Given the description of an element on the screen output the (x, y) to click on. 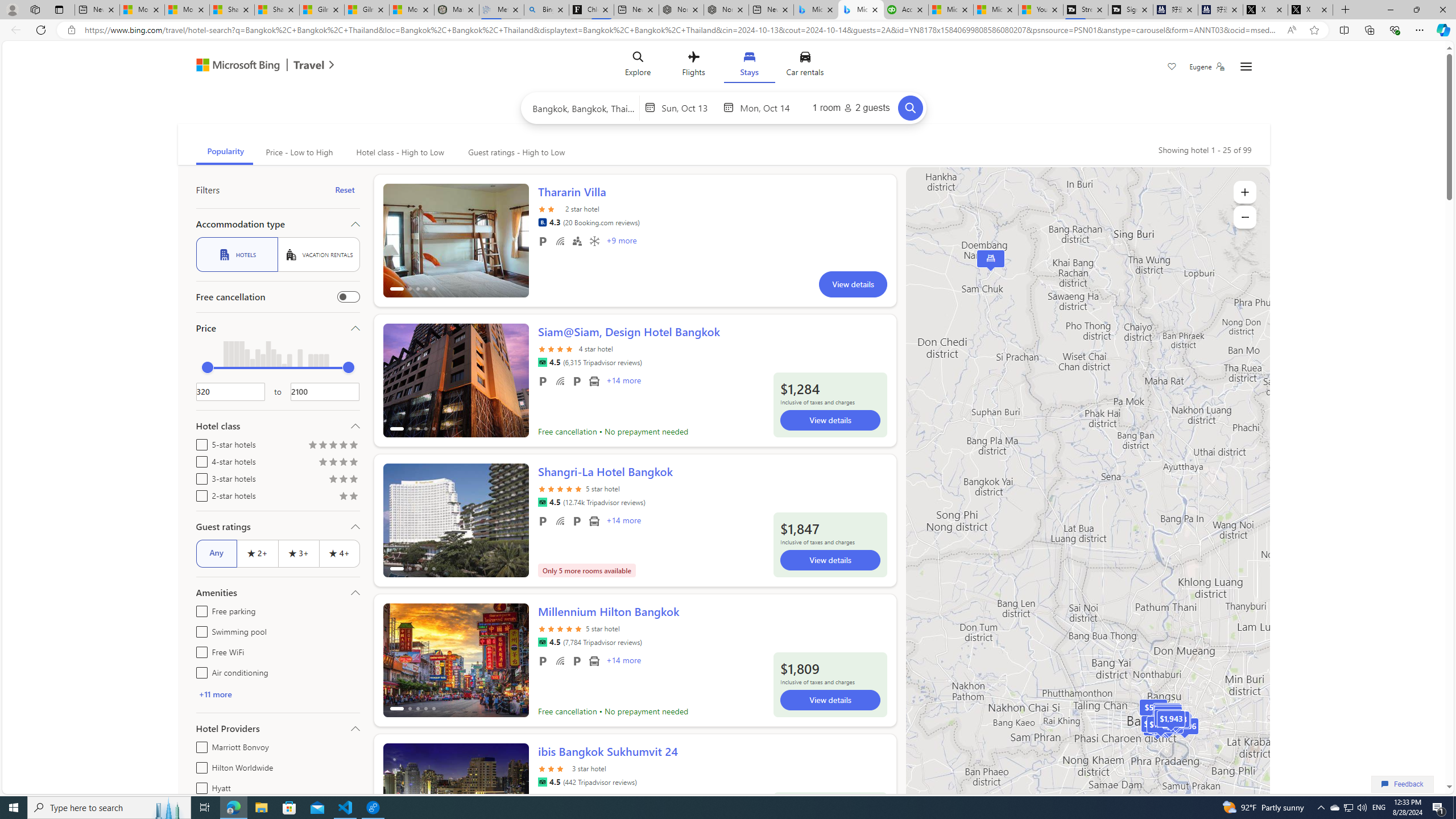
Class: msft-travel-logo (308, 64)
Eugene (1206, 66)
Settings and more (Alt+F) (1419, 29)
+9 More Amenities (621, 241)
Nordace - #1 Japanese Best-Seller - Siena Smart Backpack (726, 9)
ScrollRight (514, 795)
Accounting Software for Accountants, CPAs and Bookkeepers (906, 9)
Hotel class (277, 425)
Tab actions menu (58, 9)
Close tab (1324, 9)
2+ (256, 553)
ScrollLeft (396, 795)
Air conditioning (593, 240)
